Given the description of an element on the screen output the (x, y) to click on. 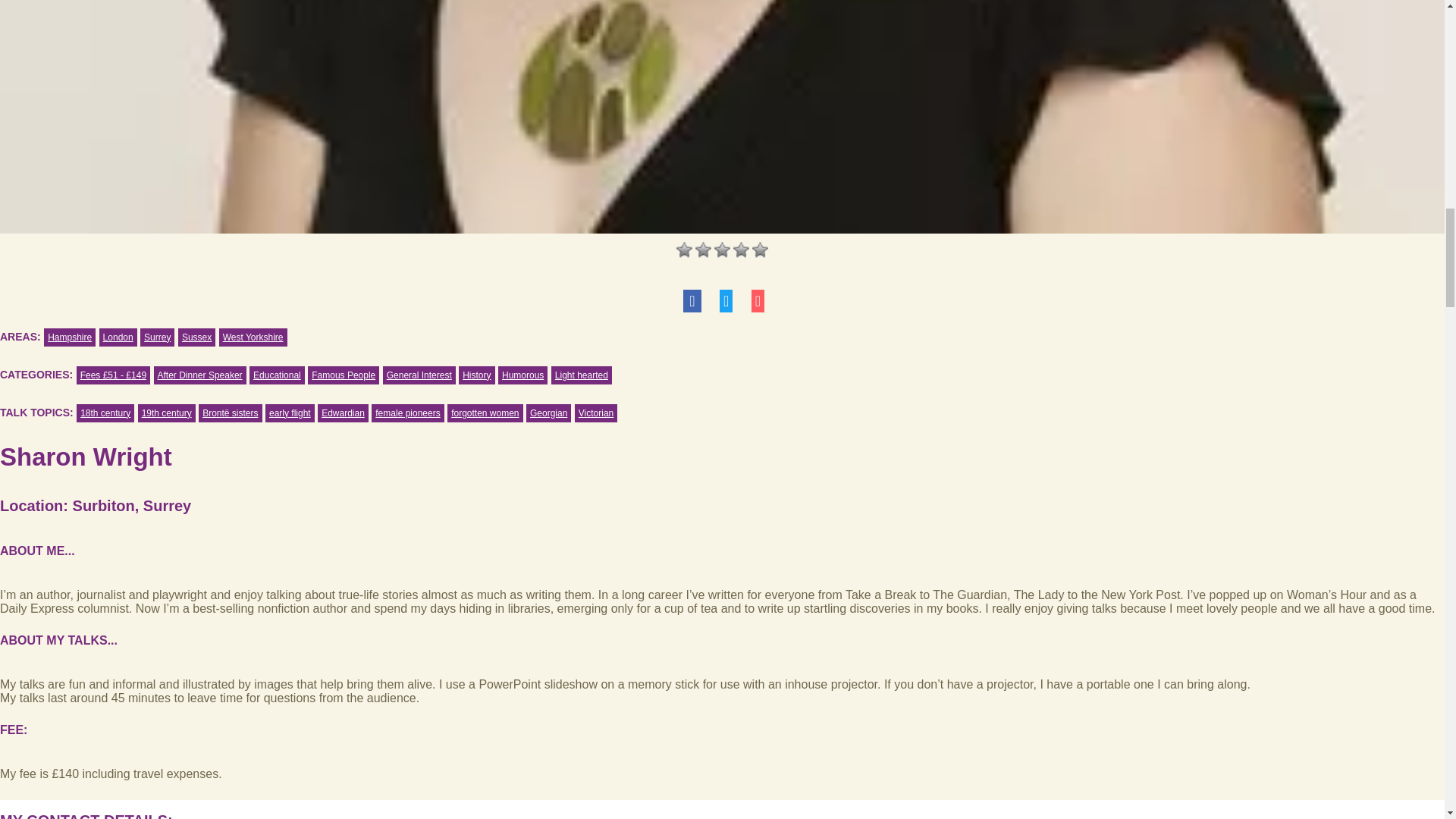
0 votes, average: 0.00 out of 5 (760, 249)
0 votes, average: 0.00 out of 5 (722, 249)
Share this via Email (757, 301)
0 votes, average: 0.00 out of 5 (685, 249)
0 votes, average: 0.00 out of 5 (703, 249)
Share this on Facebook (691, 301)
0 votes, average: 0.00 out of 5 (741, 249)
